Given the description of an element on the screen output the (x, y) to click on. 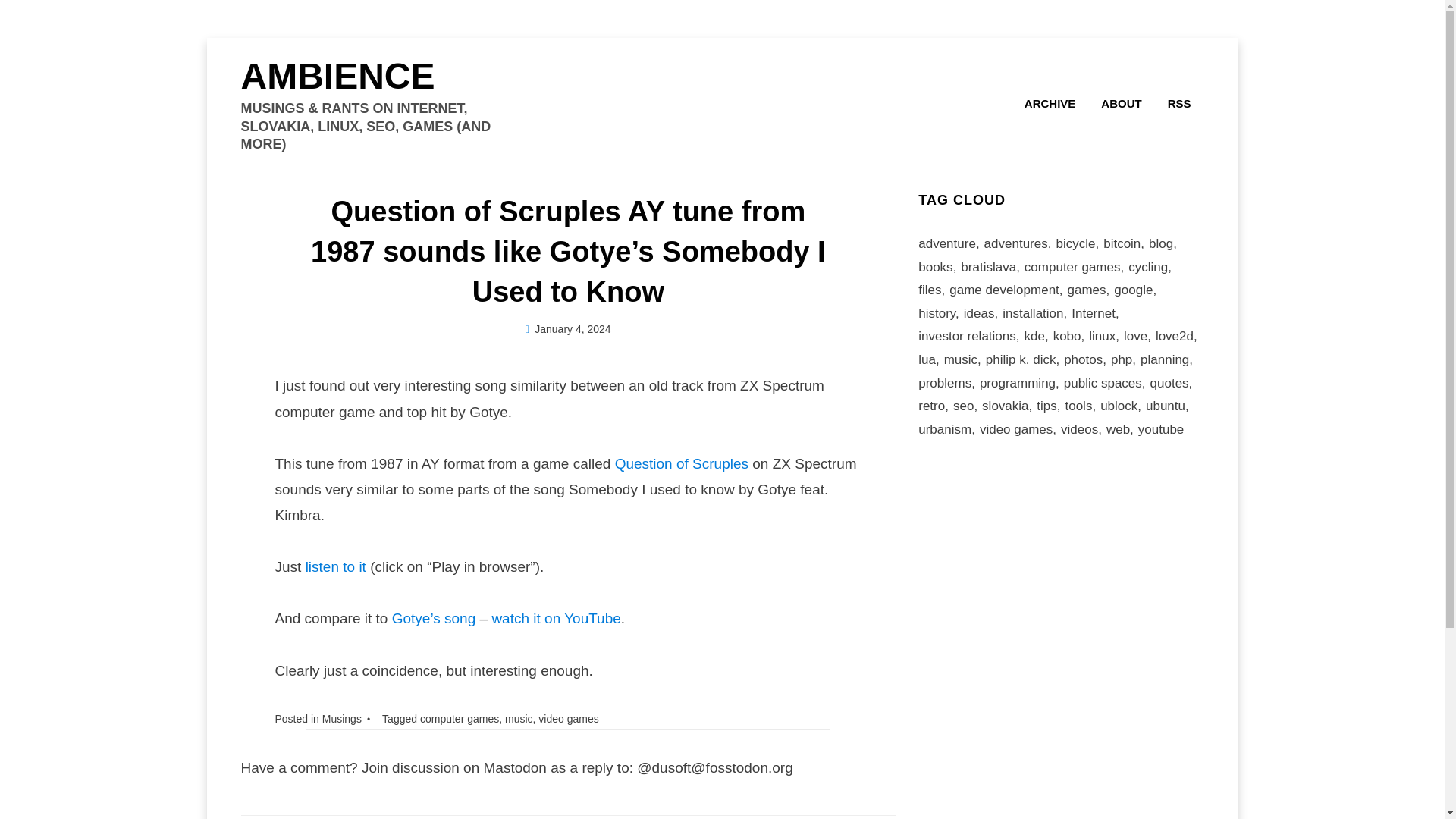
computer games (459, 718)
ARCHIVE (1050, 103)
AMBIENCE (338, 76)
bitcoin (1125, 244)
Ambience (338, 76)
kobo (1070, 336)
books (939, 268)
Question of Scruples (681, 463)
investor relations (970, 336)
January 4, 2024 (568, 328)
